Given the description of an element on the screen output the (x, y) to click on. 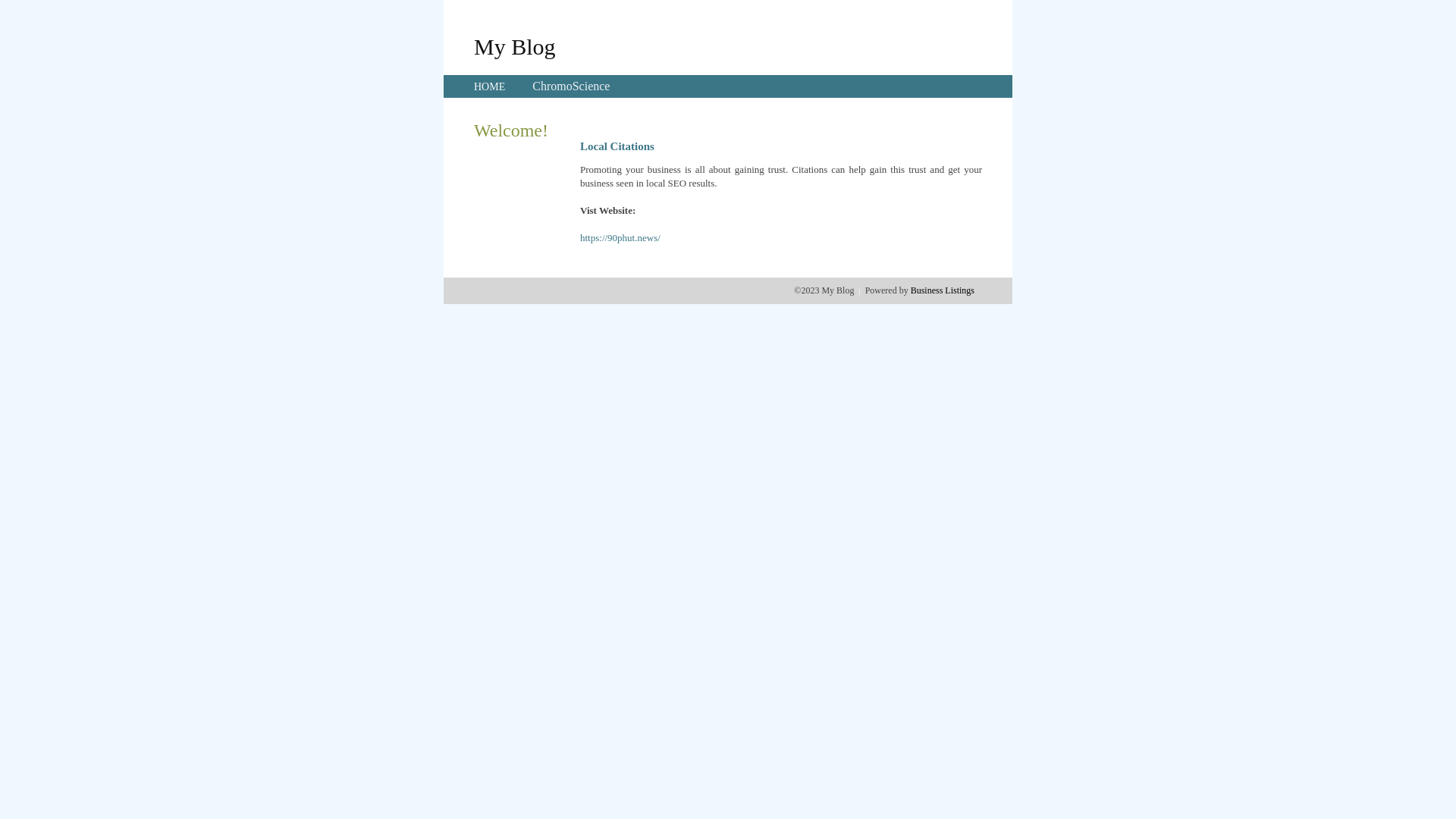
HOME Element type: text (489, 86)
Business Listings Element type: text (942, 290)
https://90phut.news/ Element type: text (620, 237)
ChromoScience Element type: text (570, 85)
My Blog Element type: text (514, 46)
